Given the description of an element on the screen output the (x, y) to click on. 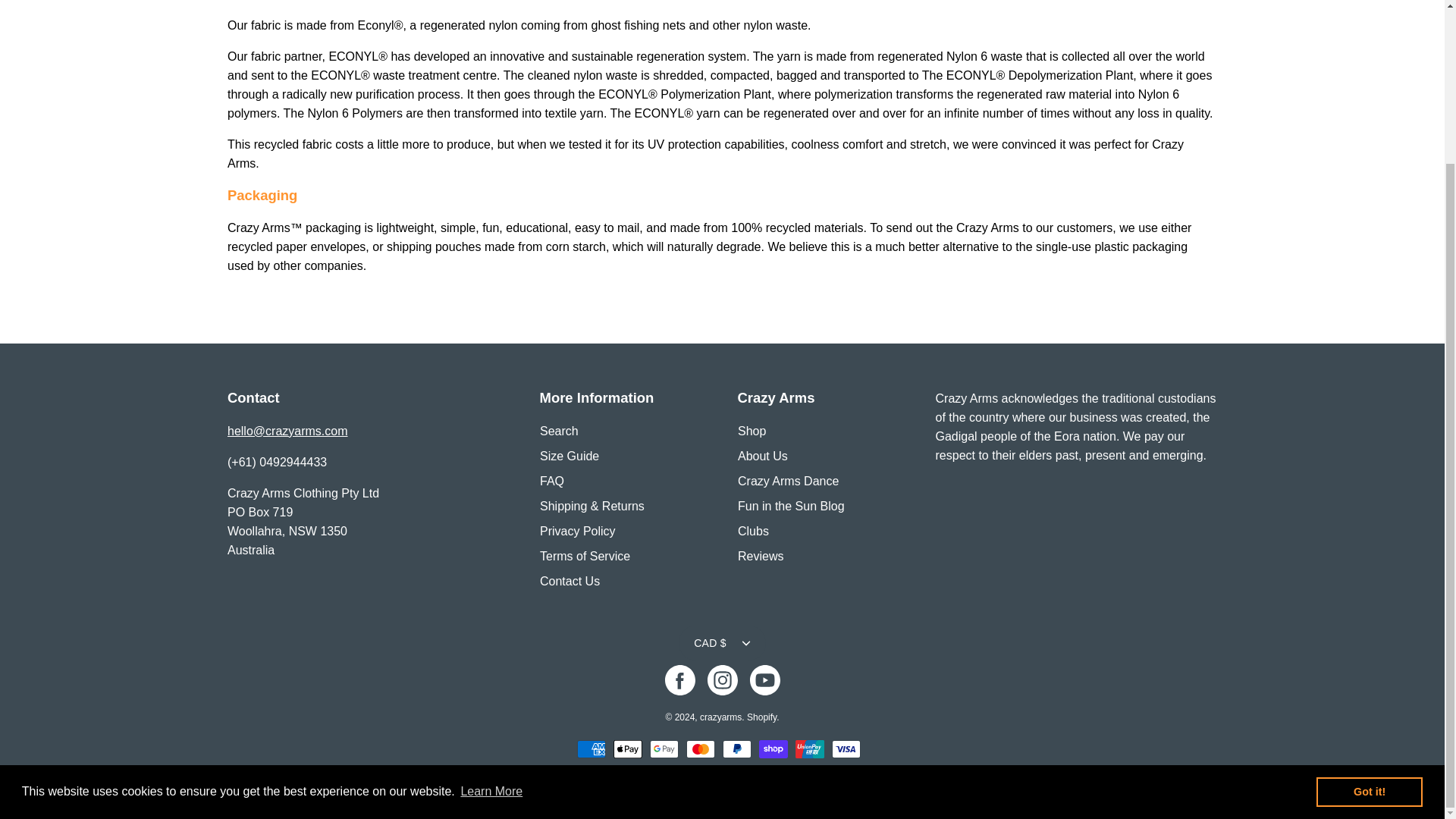
View crazyarms on Instagram (721, 680)
Learn More (491, 598)
View crazyarms on Facebook (678, 680)
Contact Us (287, 431)
View crazyarms on Youtube (763, 680)
Got it! (1369, 598)
